Given the description of an element on the screen output the (x, y) to click on. 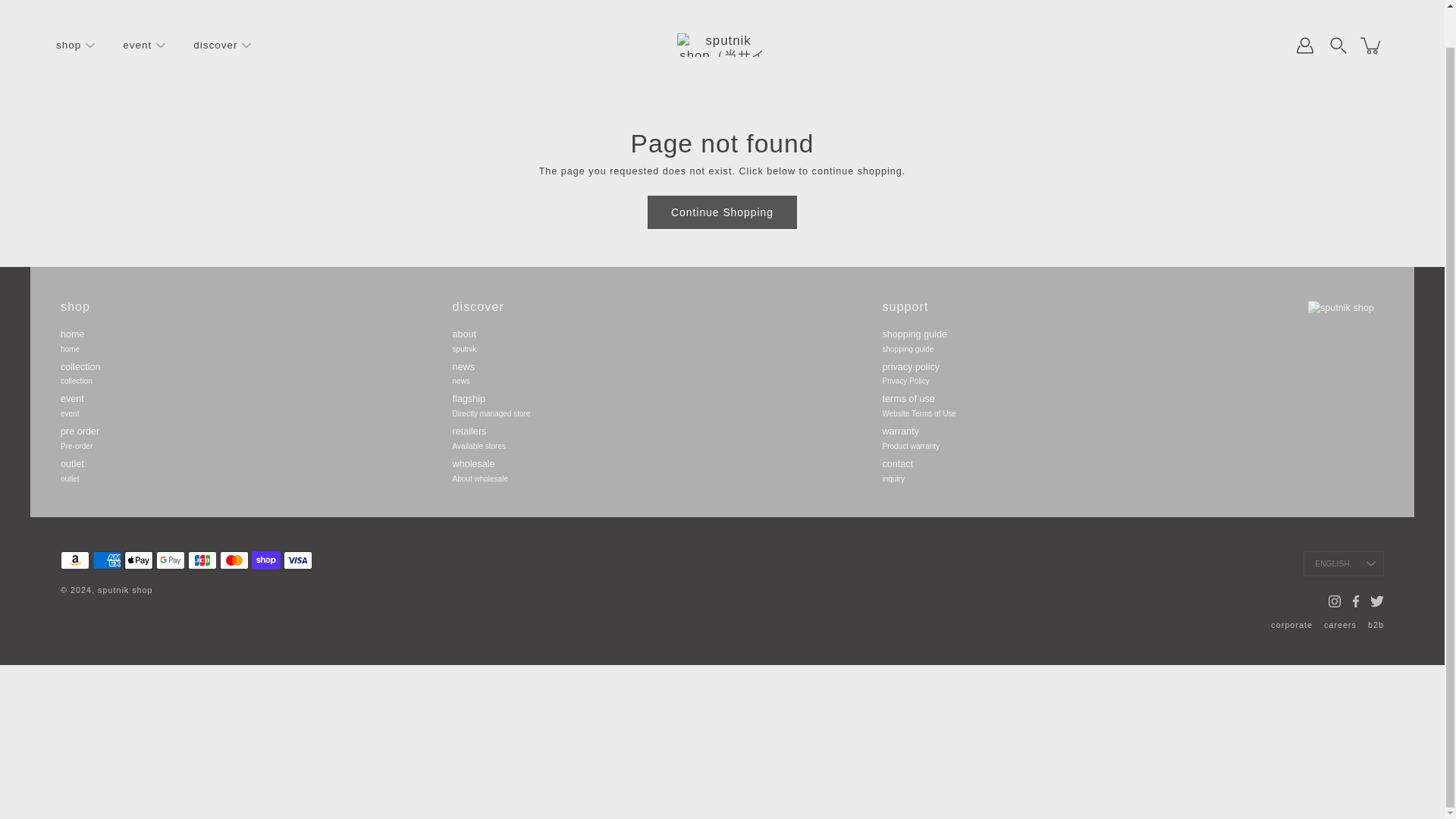
American Express (106, 560)
shop (68, 45)
Shop Pay (266, 560)
Mastercard (233, 560)
Amazon (74, 560)
JCB (201, 560)
discover (215, 45)
Google Pay (169, 560)
Visa (298, 560)
event (136, 45)
Apple Pay (137, 560)
